Given the description of an element on the screen output the (x, y) to click on. 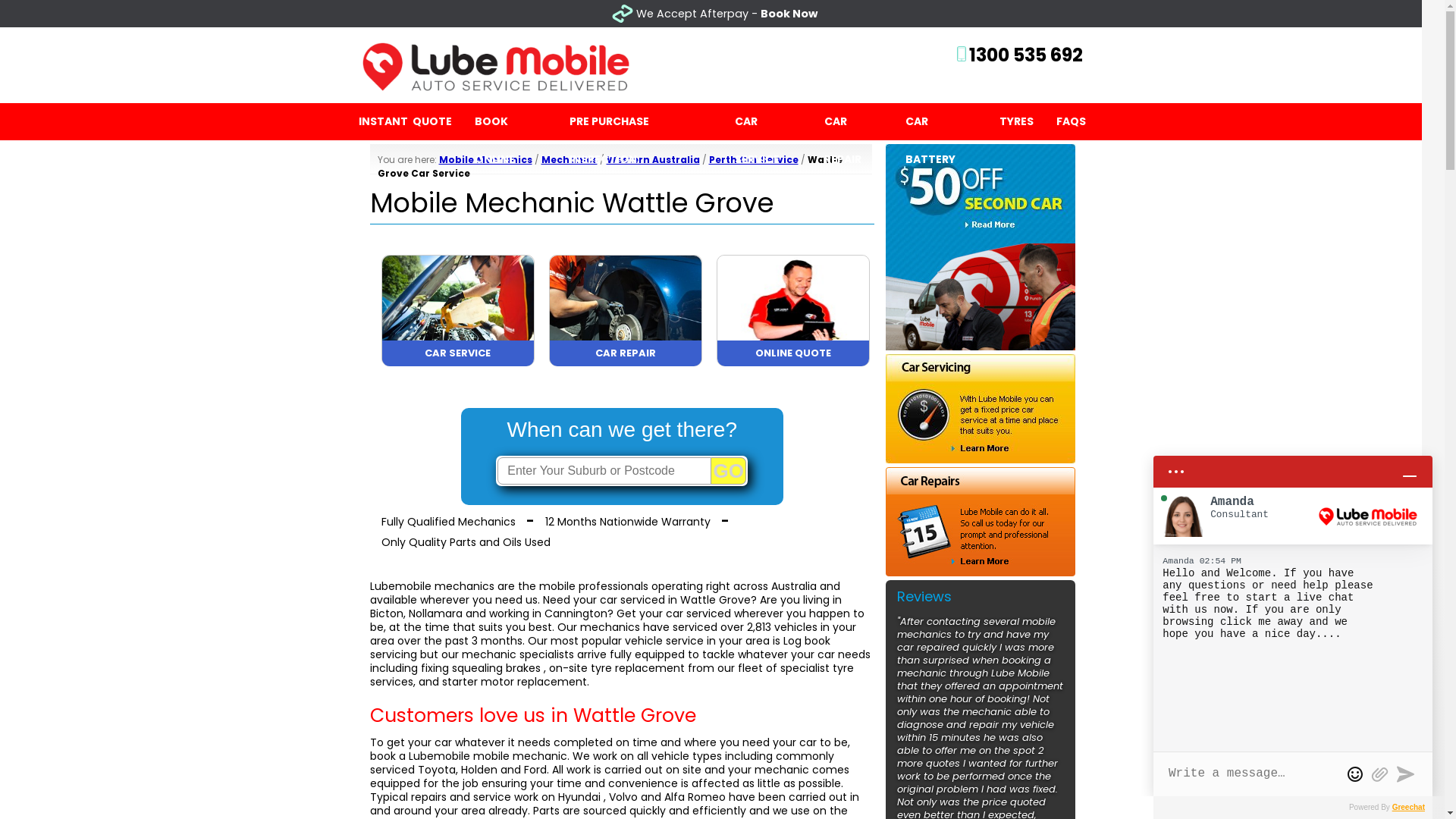
Nollamara Element type: text (434, 613)
Perth Car Service Element type: text (752, 159)
Holden Element type: text (479, 769)
CAR BATTERY Element type: text (941, 121)
Bicton Element type: text (386, 613)
INSTANT  QUOTE Element type: text (405, 121)
Mechanics Element type: text (569, 159)
starter motor replacement Element type: text (513, 681)
FAQS Element type: text (1070, 121)
Cannington Element type: text (575, 613)
CAR REPAIR Element type: text (853, 121)
Log book servicing Element type: text (600, 647)
ONLINE QUOTE Element type: text (793, 361)
Hyundai Element type: text (579, 796)
Book Now Element type: text (788, 13)
fixing squealing brakes Element type: text (479, 667)
TYRES Element type: text (1016, 121)
GO Element type: text (728, 470)
Greechat Element type: text (1408, 807)
CAR SERVICE Element type: text (767, 121)
PRE PURCHASE INSPECTION Element type: text (640, 121)
Western Australia Element type: text (652, 159)
Alfa Romeo Element type: text (694, 796)
Volvo Element type: text (622, 796)
BOOK ONLINE Element type: text (509, 121)
CAR SERVICE Element type: text (457, 361)
Toyota Element type: text (436, 769)
LiveChat chat widget Element type: hover (1292, 619)
Mobile Mechanics Element type: text (484, 159)
x Element type: text (1436, 14)
CAR REPAIR Element type: text (624, 361)
